Given the description of an element on the screen output the (x, y) to click on. 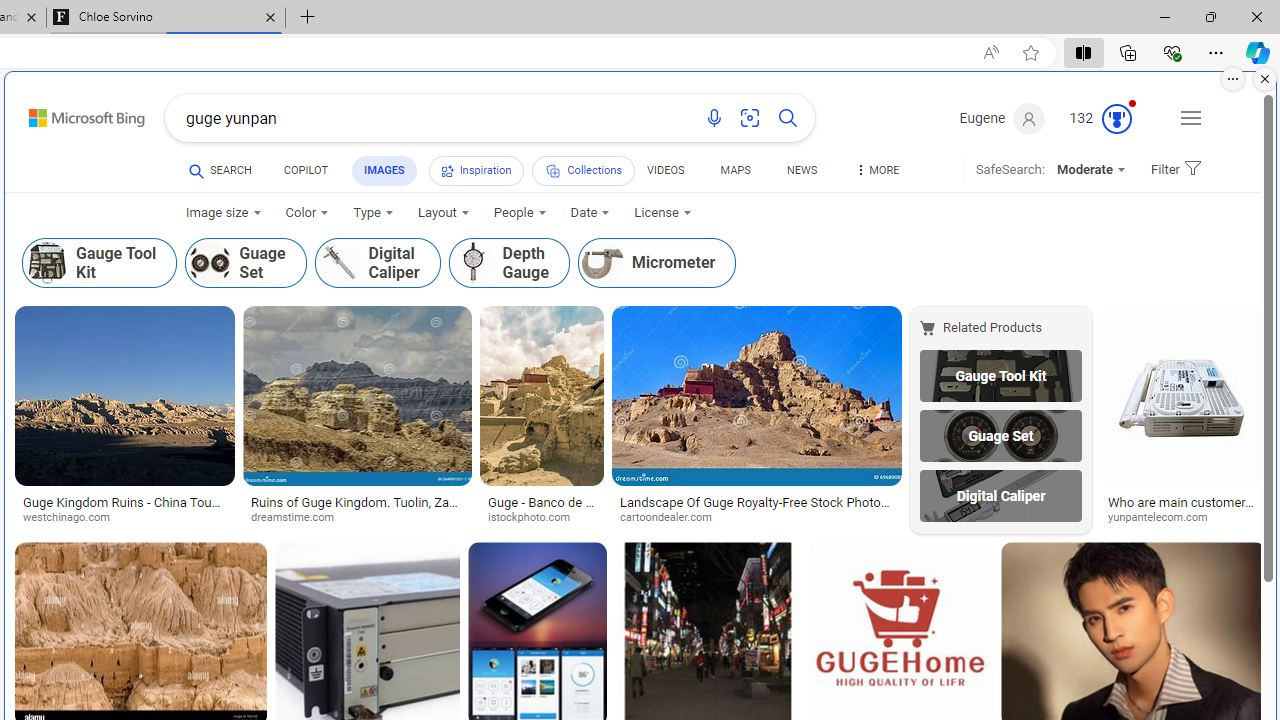
istockphoto.com (535, 517)
Date (590, 213)
Dropdown Menu (875, 170)
Settings and quick links (1190, 117)
Micrometer (657, 263)
Search using voice (714, 117)
Date (590, 213)
IMAGES (383, 170)
Digital Caliper (1000, 496)
COPILOT (305, 170)
